Given the description of an element on the screen output the (x, y) to click on. 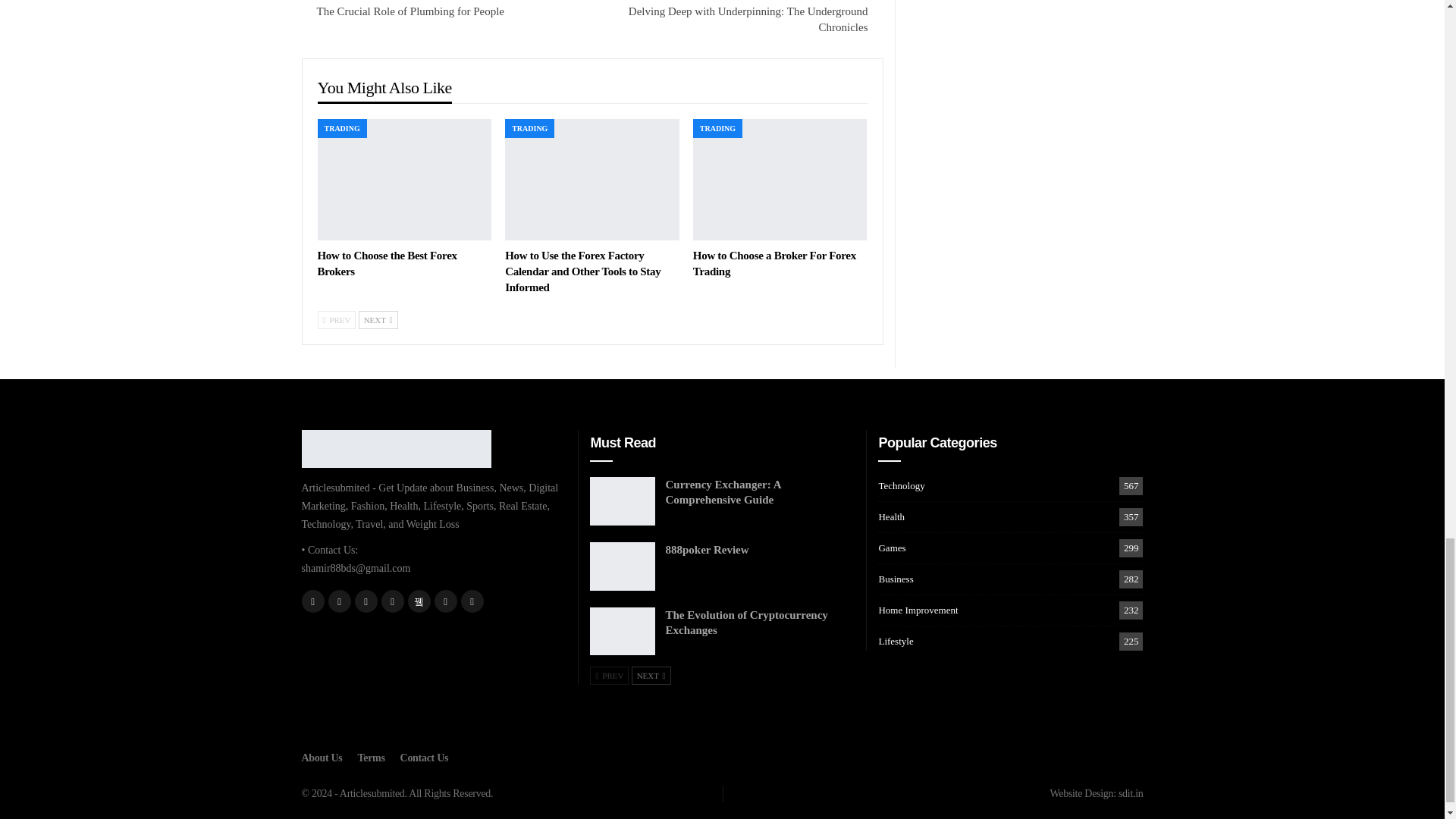
How to Choose the Best Forex Brokers (387, 263)
How to Choose the Best Forex Brokers (404, 179)
How to Choose a Broker For Forex Trading (780, 179)
How to Choose a Broker For Forex Trading (774, 263)
Previous (336, 320)
